Given the description of an element on the screen output the (x, y) to click on. 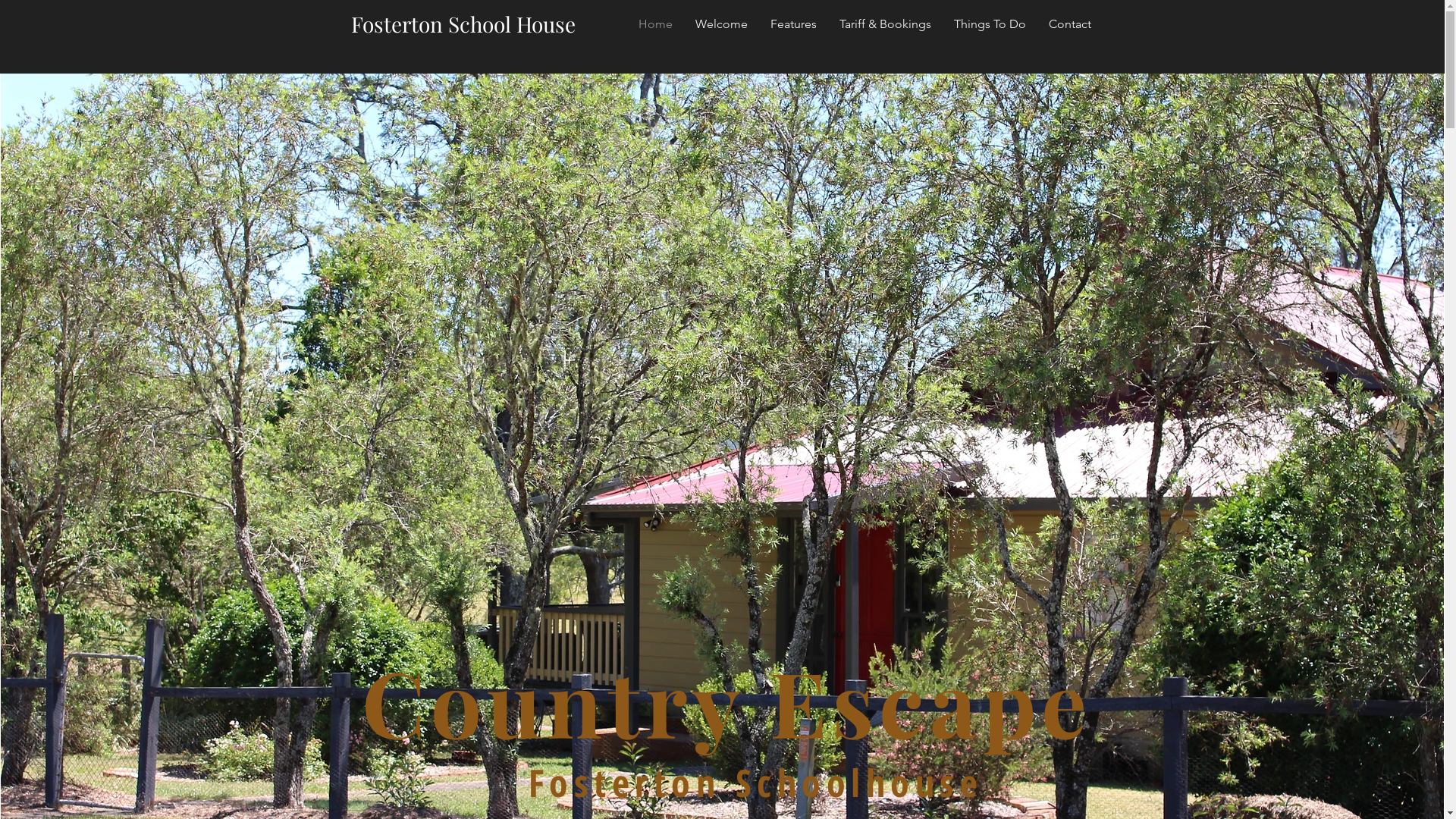
Features Element type: text (792, 24)
Home Element type: text (654, 24)
Welcome Element type: text (721, 24)
Tariff & Bookings Element type: text (885, 24)
Things To Do Element type: text (988, 24)
Contact Element type: text (1069, 24)
